Given the description of an element on the screen output the (x, y) to click on. 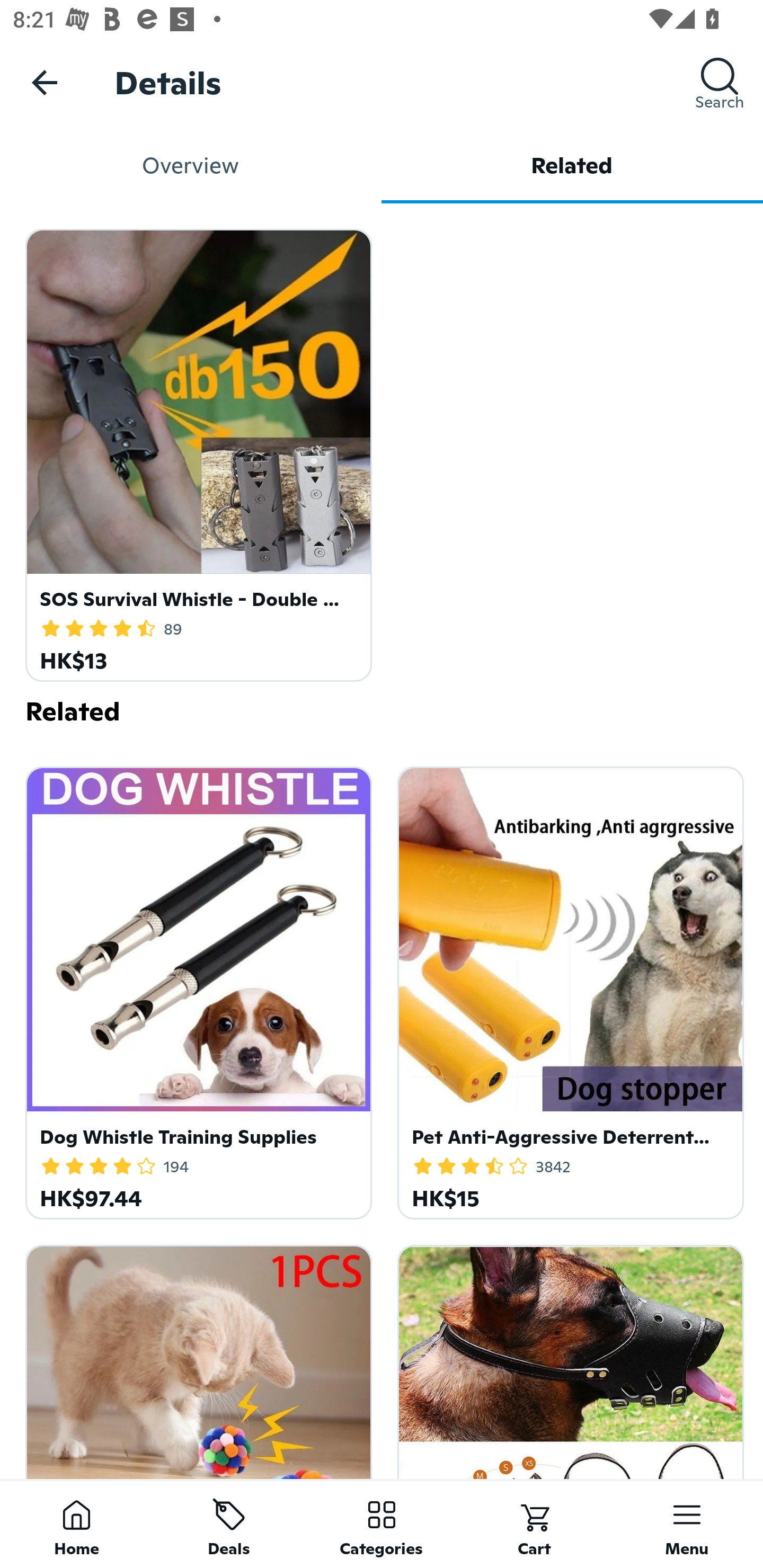
Navigate up (44, 82)
Search (719, 82)
Overview (190, 165)
Home (76, 1523)
Deals (228, 1523)
Categories (381, 1523)
Cart (533, 1523)
Menu (686, 1523)
